Given the description of an element on the screen output the (x, y) to click on. 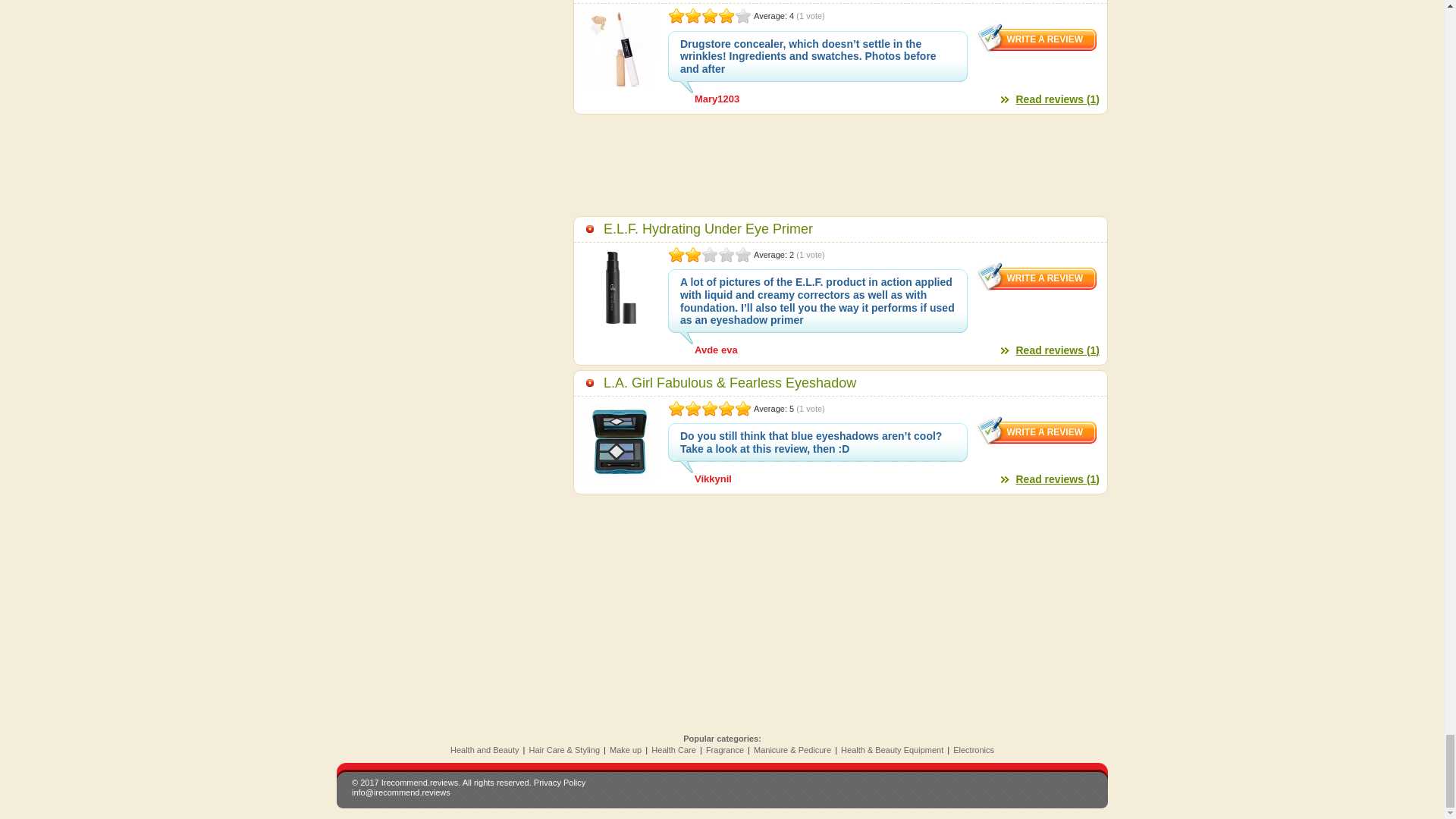
Write a review (1037, 37)
Write a review (1037, 276)
Write a review (1037, 430)
